Given the description of an element on the screen output the (x, y) to click on. 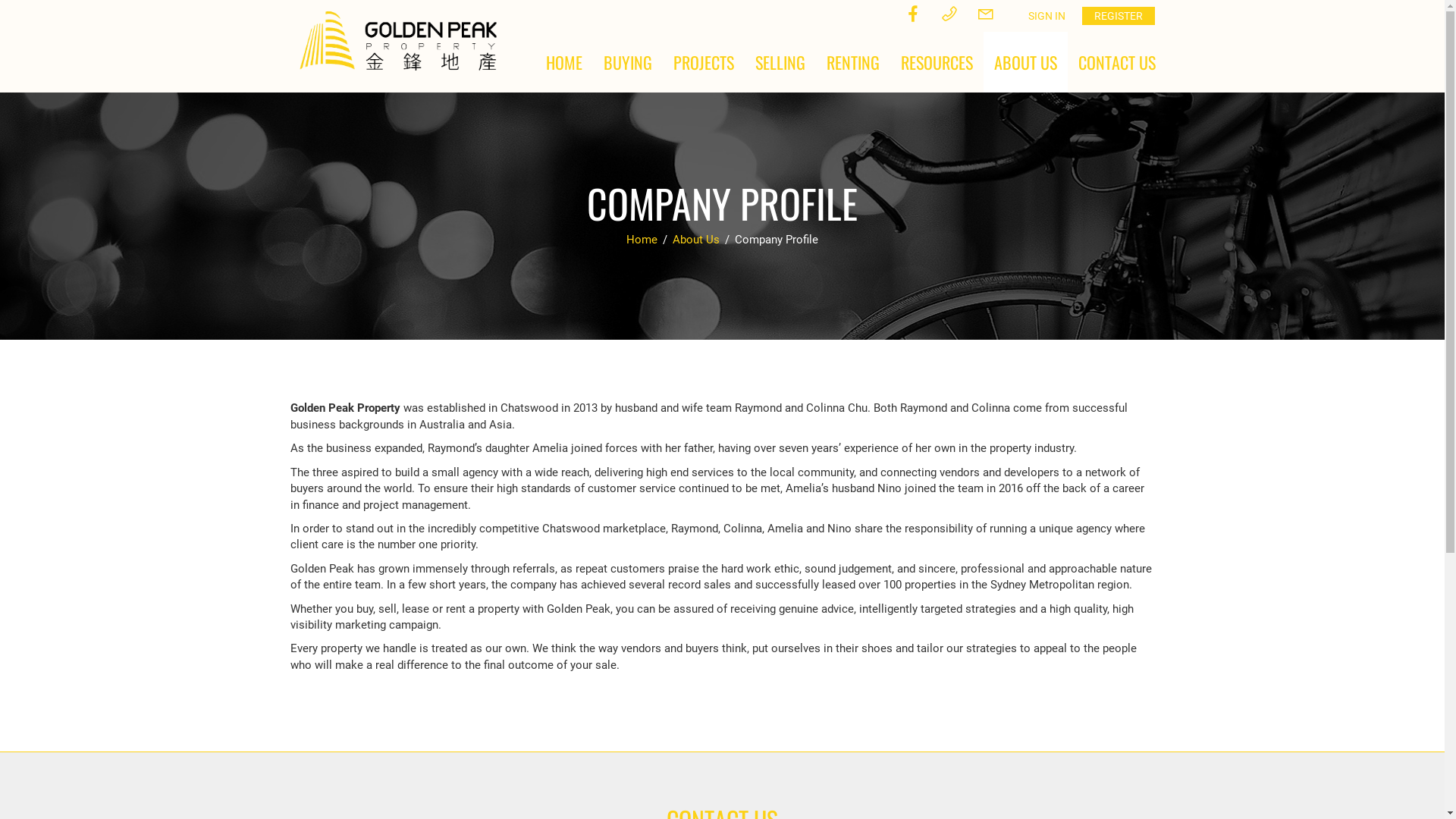
PROJECTS Element type: text (703, 61)
Home Element type: text (643, 239)
CONTACT US Element type: text (1116, 61)
BUYING Element type: text (627, 61)
RENTING Element type: text (852, 61)
HOME Element type: text (564, 61)
RESOURCES Element type: text (936, 61)
REGISTER Element type: text (1117, 15)
ABOUT US Element type: text (1024, 61)
SIGN IN Element type: text (1046, 15)
About Us Element type: text (697, 239)
SELLING Element type: text (779, 61)
